Given the description of an element on the screen output the (x, y) to click on. 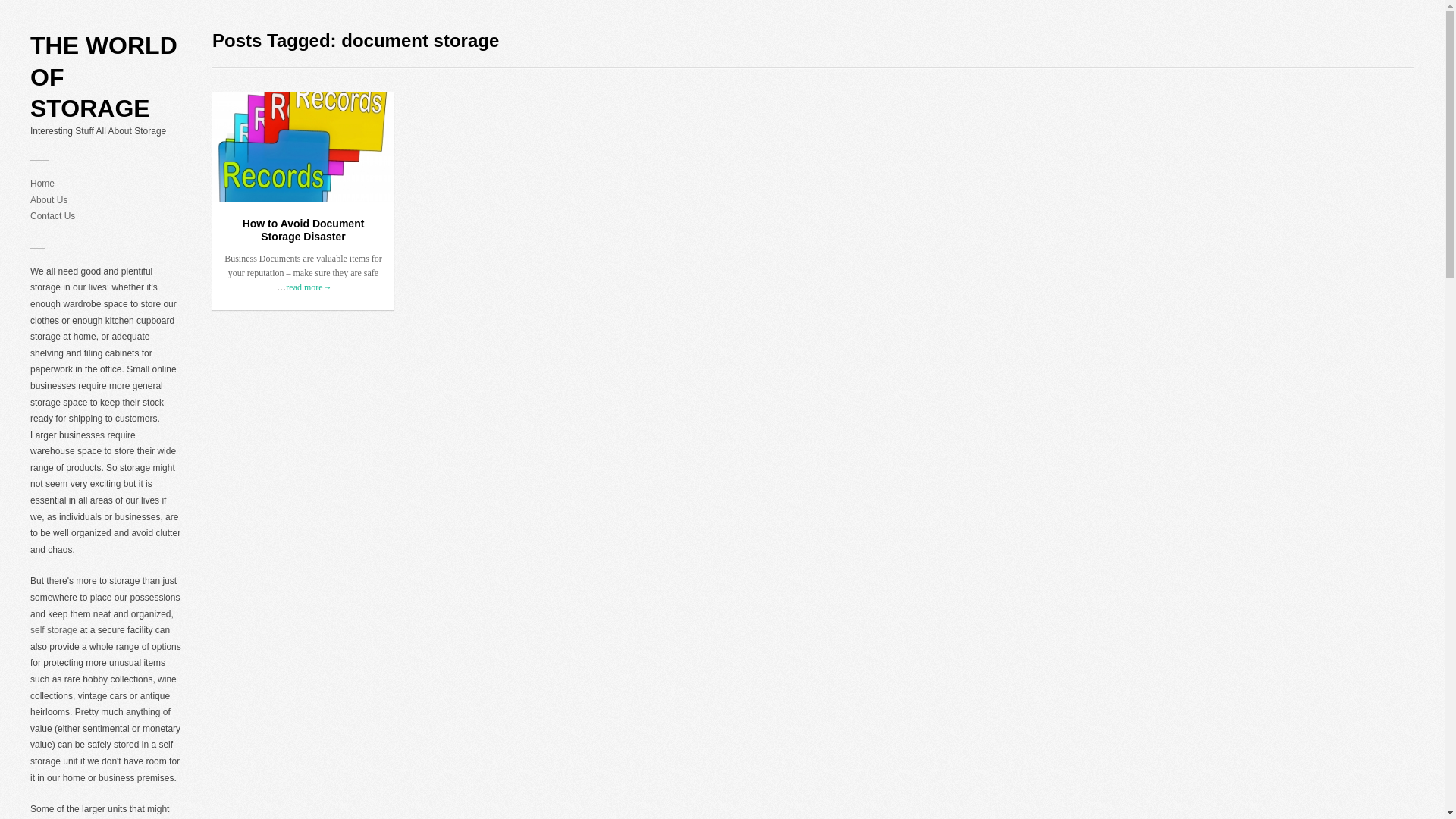
How to Avoid Document Storage Disaster (304, 229)
THE WORLD OF STORAGE (106, 77)
The World of Storage (106, 77)
How to Avoid Document Storage Disaster (304, 229)
About Us (48, 199)
Home (42, 183)
Contact Us (52, 215)
How to Avoid Document Storage Disaster (303, 146)
